Given the description of an element on the screen output the (x, y) to click on. 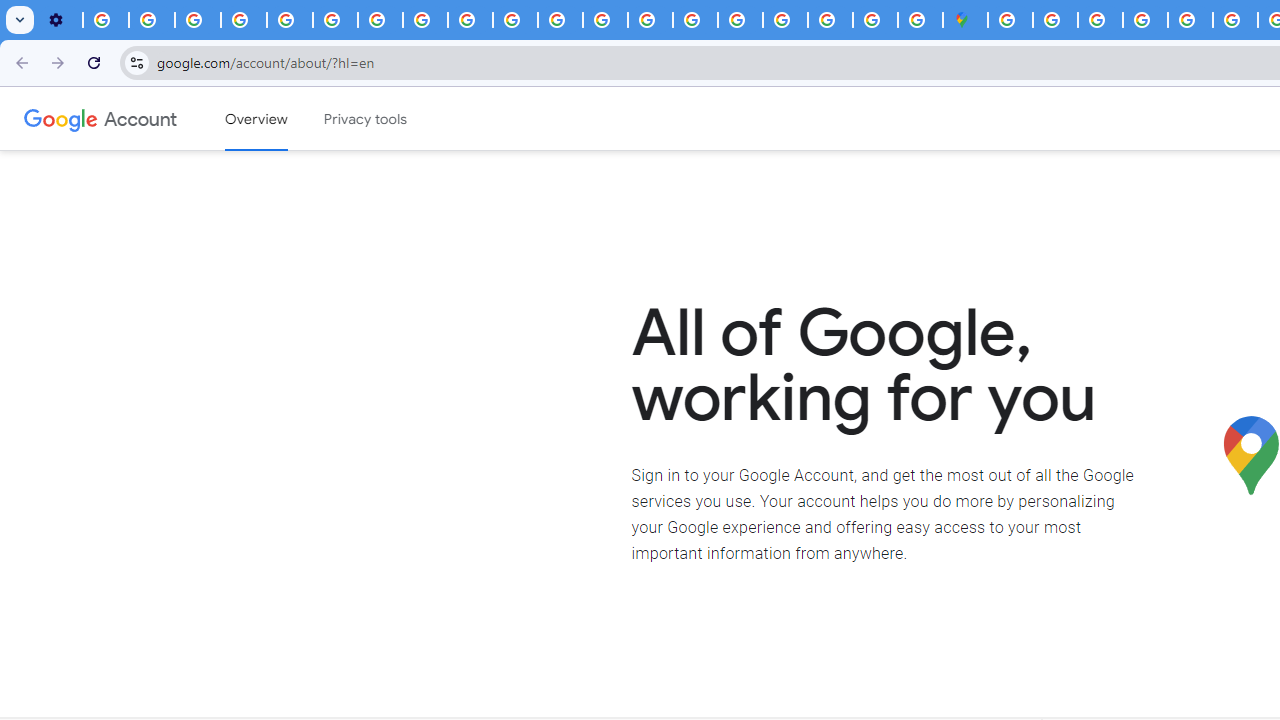
Learn how to find your photos - Google Photos Help (152, 20)
Google Account (140, 118)
Privacy Help Center - Policies Help (290, 20)
Privacy Help Center - Policies Help (1235, 20)
Settings - Customize profile (60, 20)
Google logo (61, 118)
Privacy tools (365, 119)
